Given the description of an element on the screen output the (x, y) to click on. 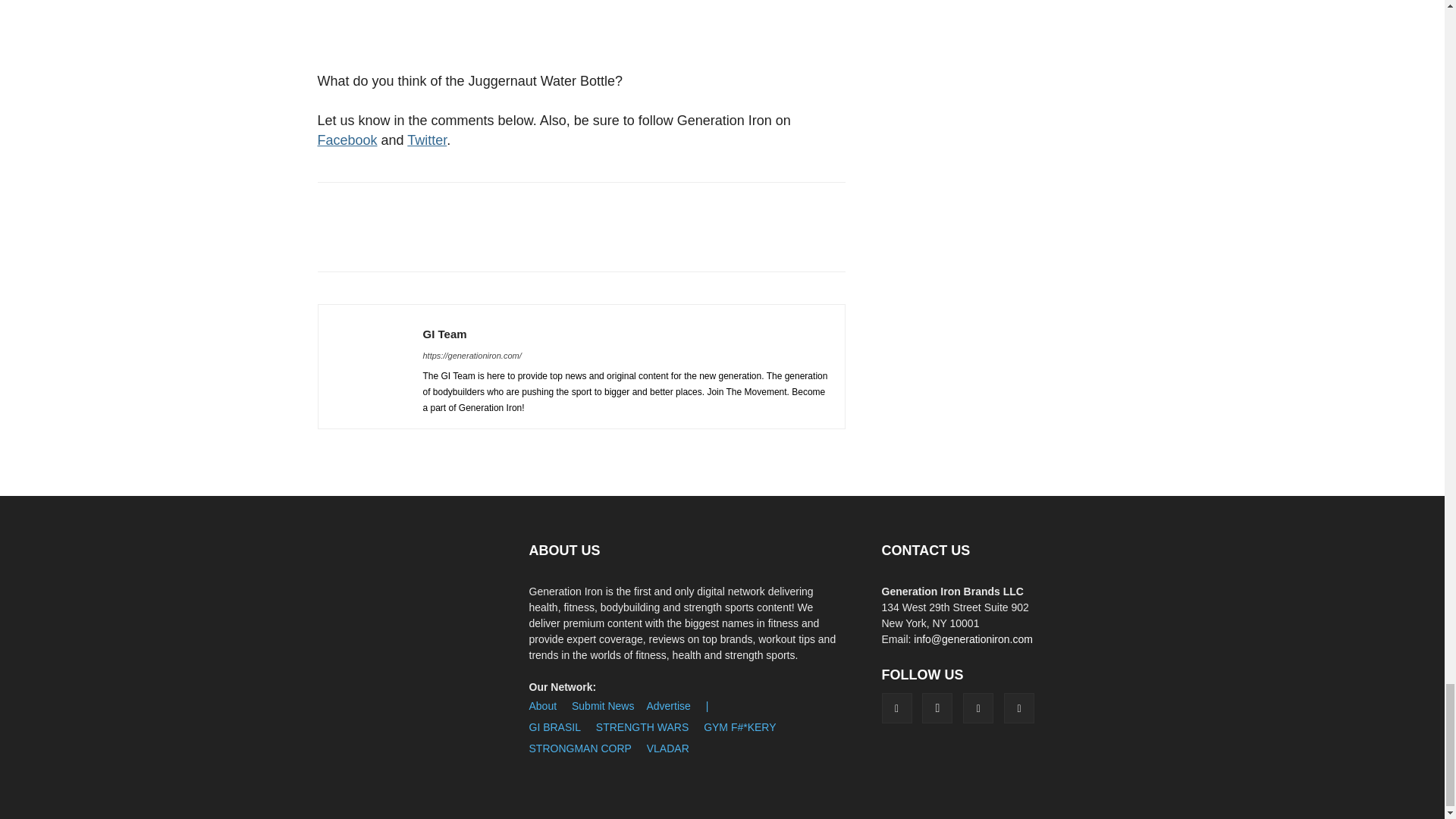
bottomFacebookLike (430, 206)
